Given the description of an element on the screen output the (x, y) to click on. 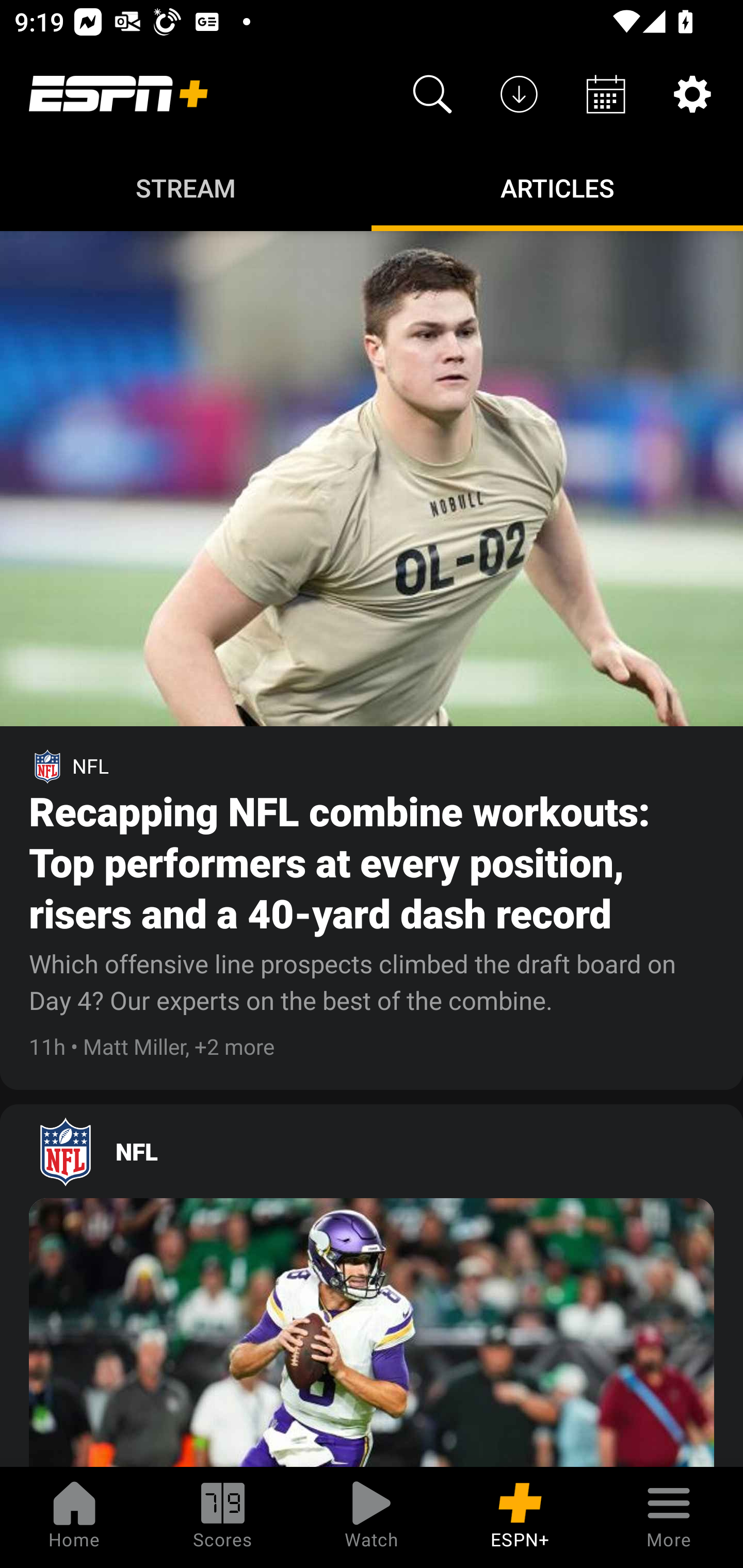
Search (432, 93)
Downloads (518, 93)
Schedule (605, 93)
Settings (692, 93)
Stream STREAM (185, 187)
Home (74, 1517)
Scores (222, 1517)
Watch (371, 1517)
More (668, 1517)
